Given the description of an element on the screen output the (x, y) to click on. 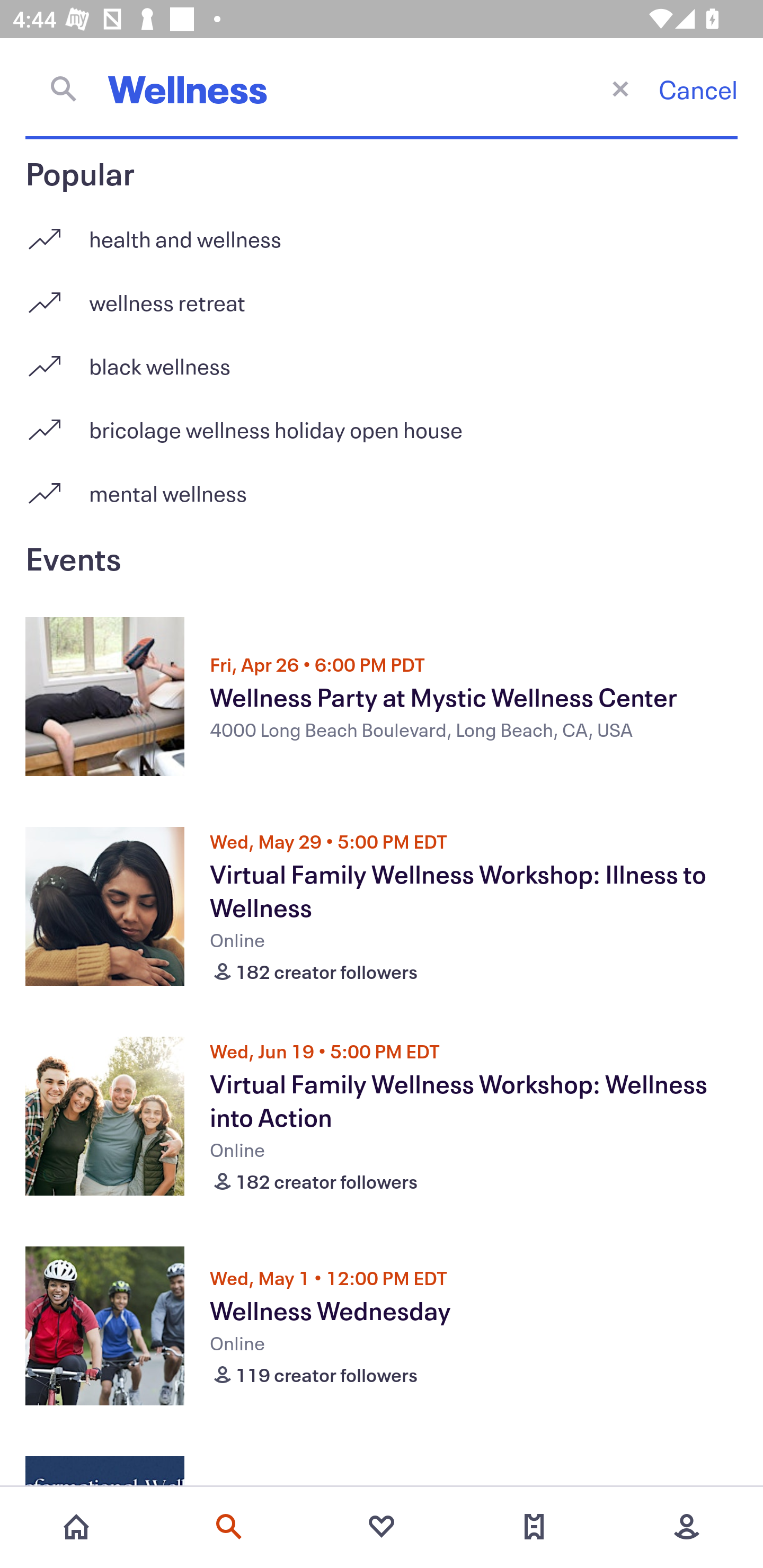
Wellness Close current screen Cancel (381, 88)
Close current screen (620, 88)
Cancel (697, 89)
health and wellness (381, 231)
wellness retreat (381, 295)
black wellness (381, 358)
bricolage wellness holiday open house (381, 422)
mental wellness (381, 492)
Home (76, 1526)
Search events (228, 1526)
Favorites (381, 1526)
Tickets (533, 1526)
More (686, 1526)
